Given the description of an element on the screen output the (x, y) to click on. 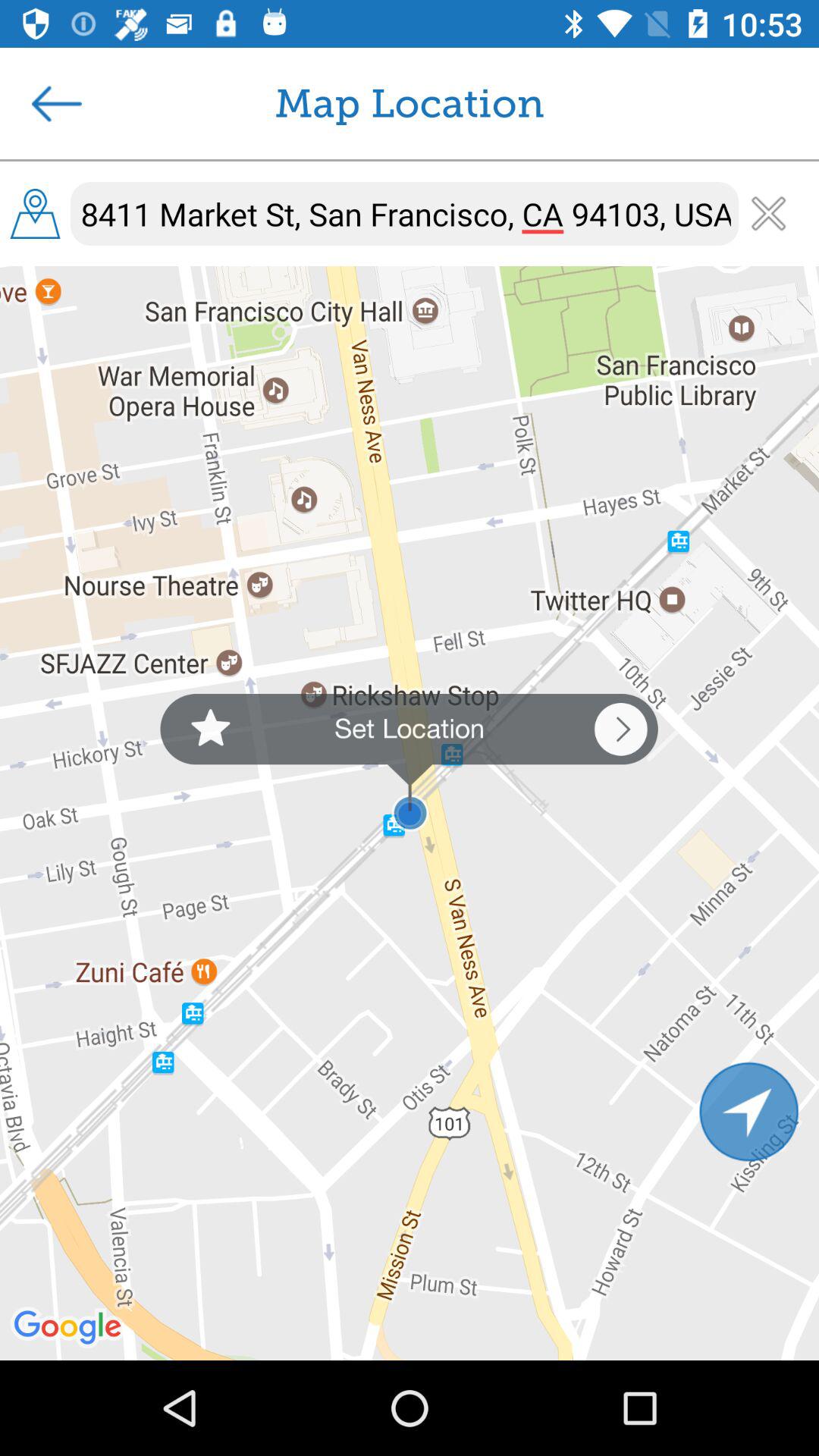
move the map (749, 1111)
